Given the description of an element on the screen output the (x, y) to click on. 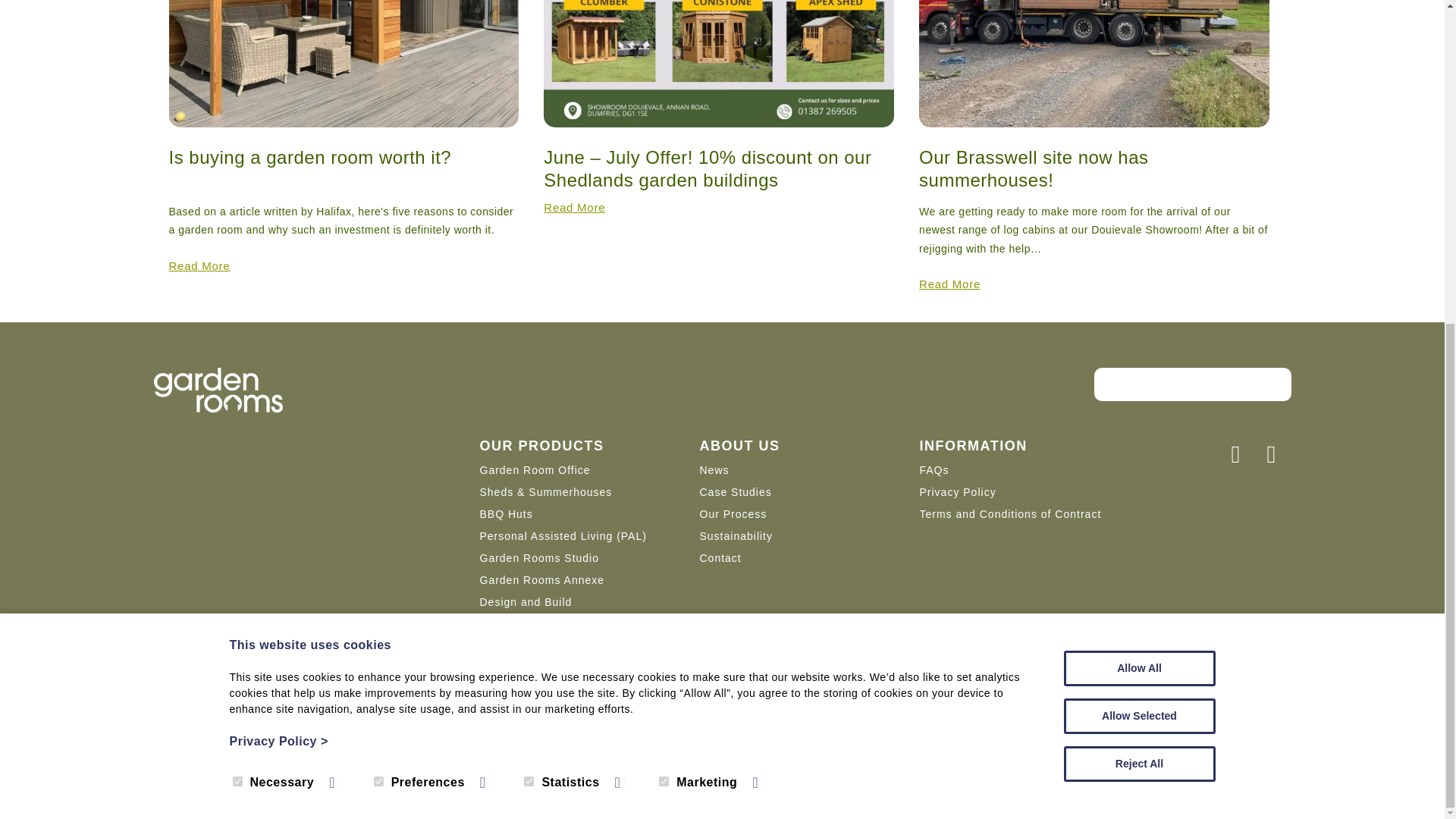
marketing (663, 252)
preferences (379, 252)
Customer reviews powered by Trustpilot (1191, 384)
necessary (236, 252)
Garden Rooms Scotland (217, 392)
Creatomatic (398, 760)
statistics (529, 252)
